Given the description of an element on the screen output the (x, y) to click on. 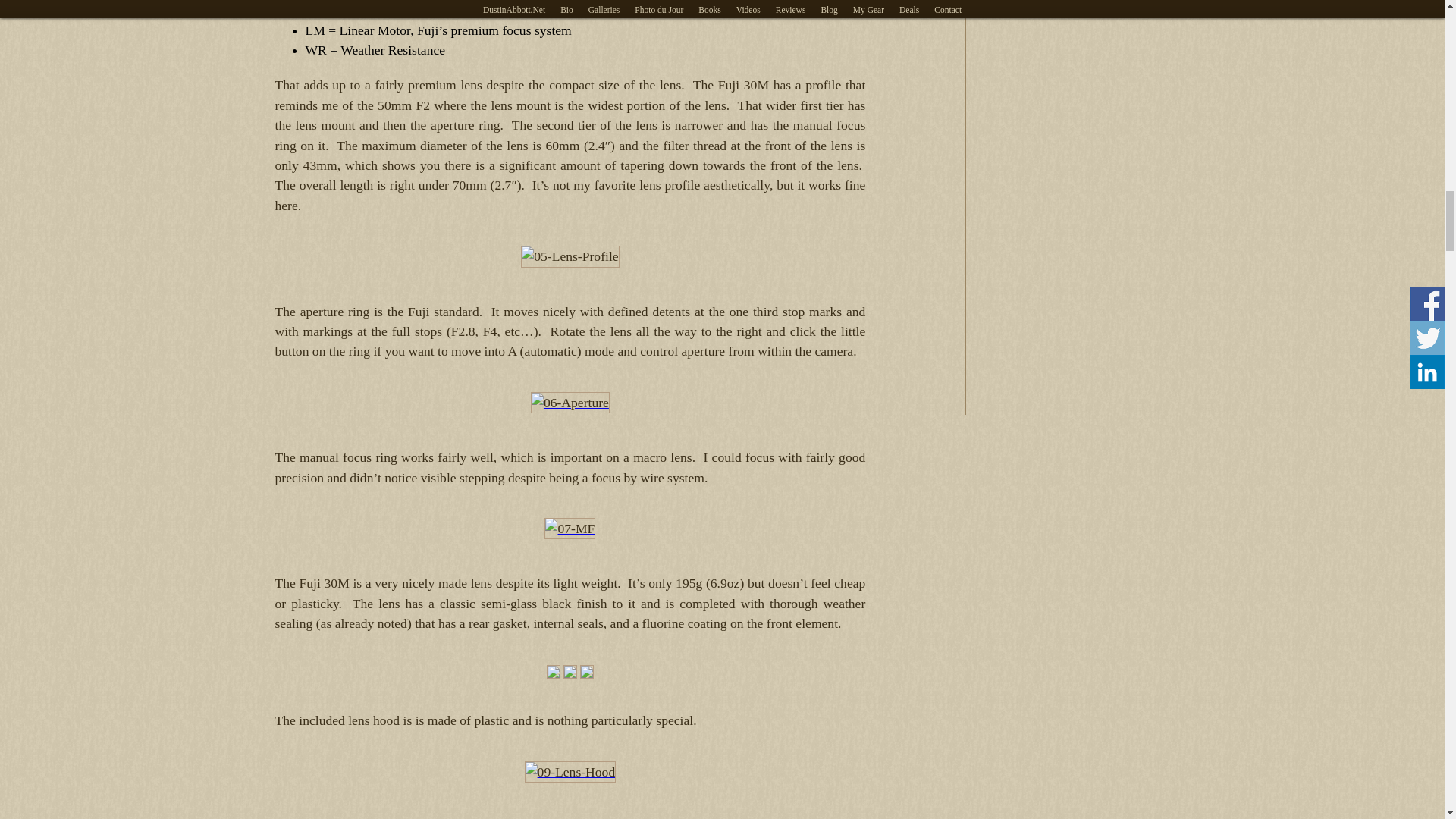
07-MF (569, 527)
08-WR-2 (569, 671)
08-WR-1 (553, 671)
05-Lens-Profile (569, 255)
09-Lens-Hood (569, 771)
06-Aperture (570, 402)
08-WR-3 (586, 671)
